Given the description of an element on the screen output the (x, y) to click on. 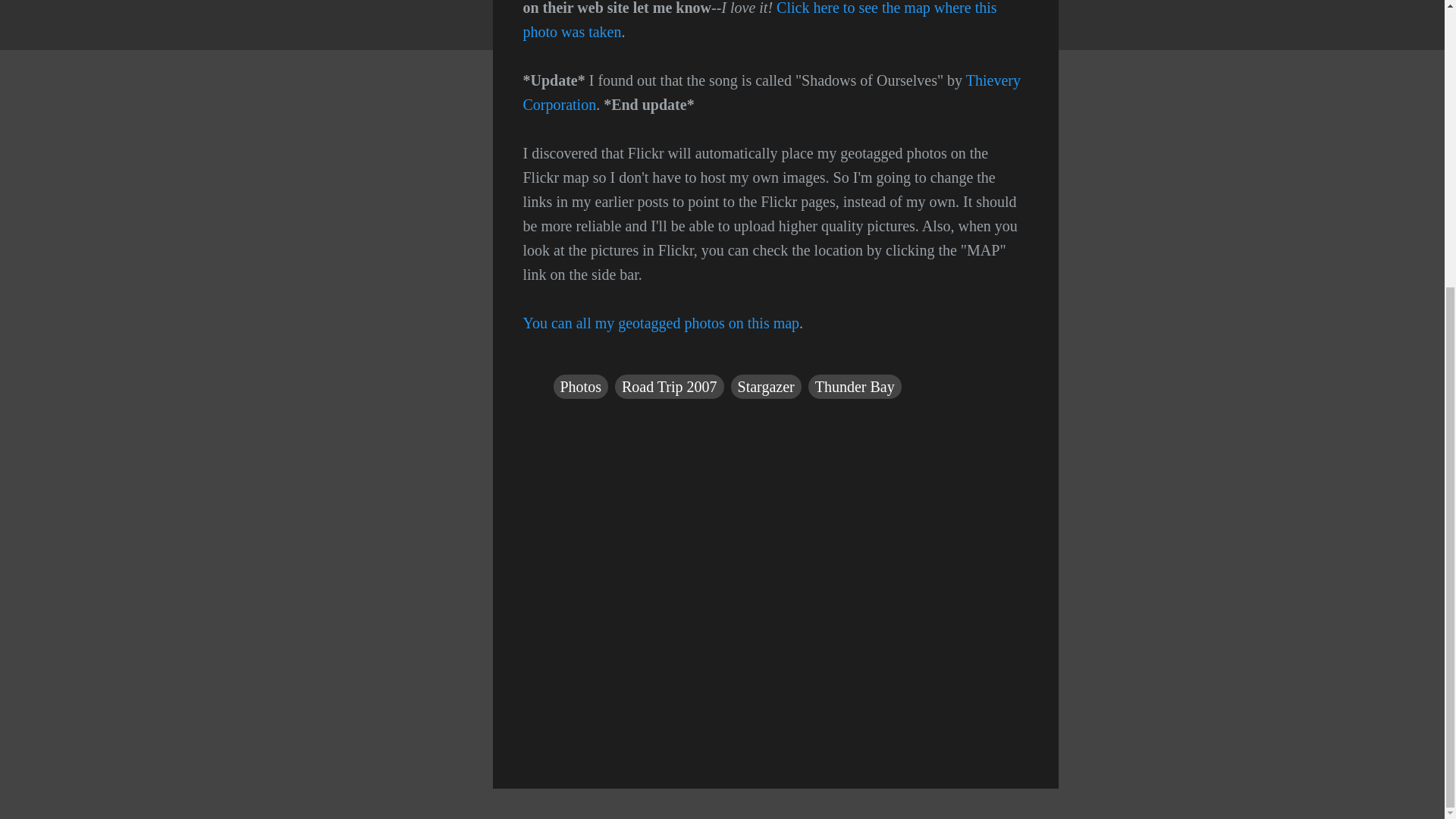
Stargazer (766, 386)
Click here to see the map where this photo was taken (759, 20)
Thunder Bay (854, 386)
Road Trip 2007 (668, 386)
Photos (580, 386)
Thievery Corporation (771, 92)
You can all my geotagged photos on this map (660, 322)
